Given the description of an element on the screen output the (x, y) to click on. 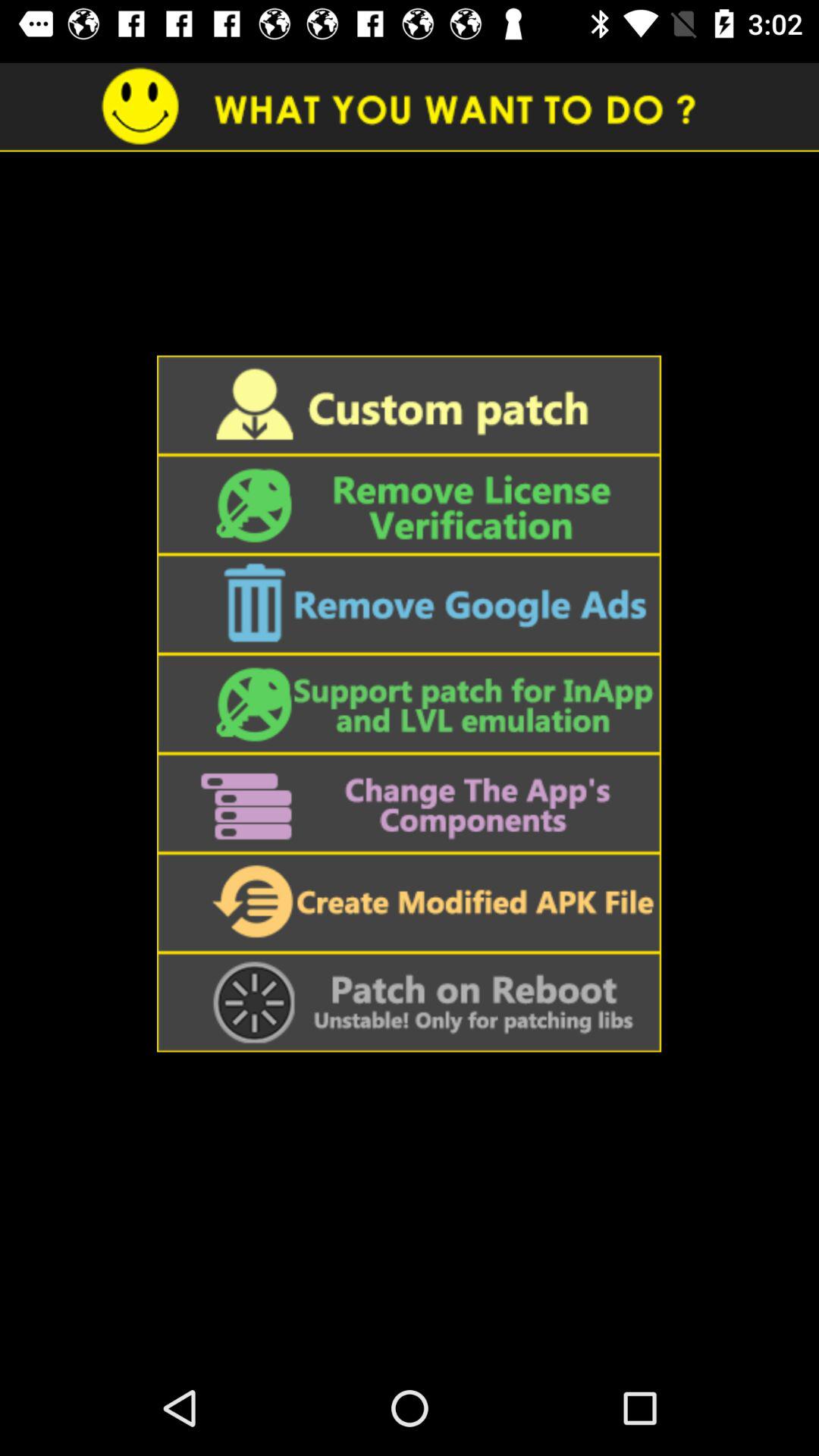
click menu selection (408, 902)
